Given the description of an element on the screen output the (x, y) to click on. 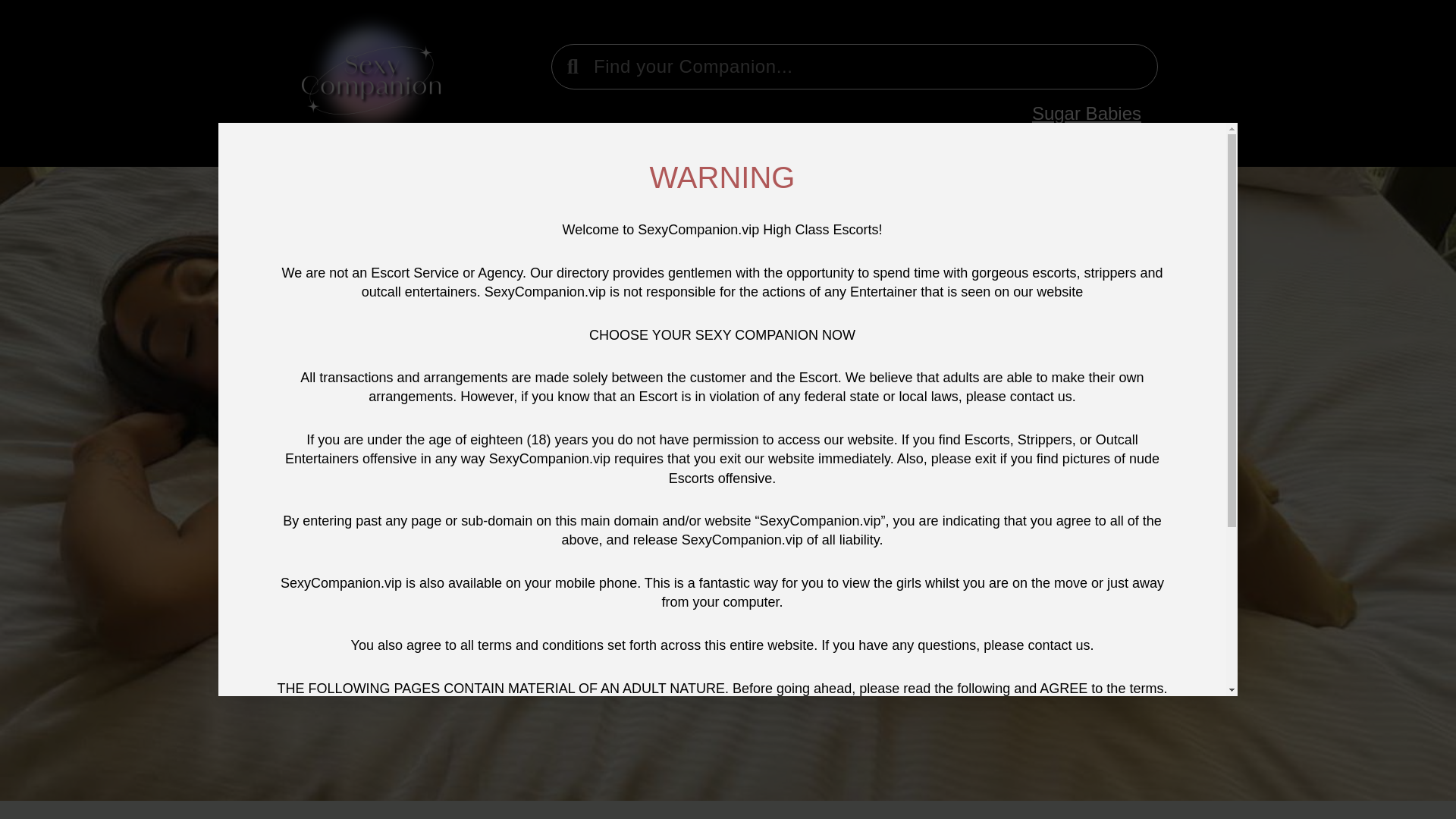
Sugar Babies (1086, 113)
